Given the description of an element on the screen output the (x, y) to click on. 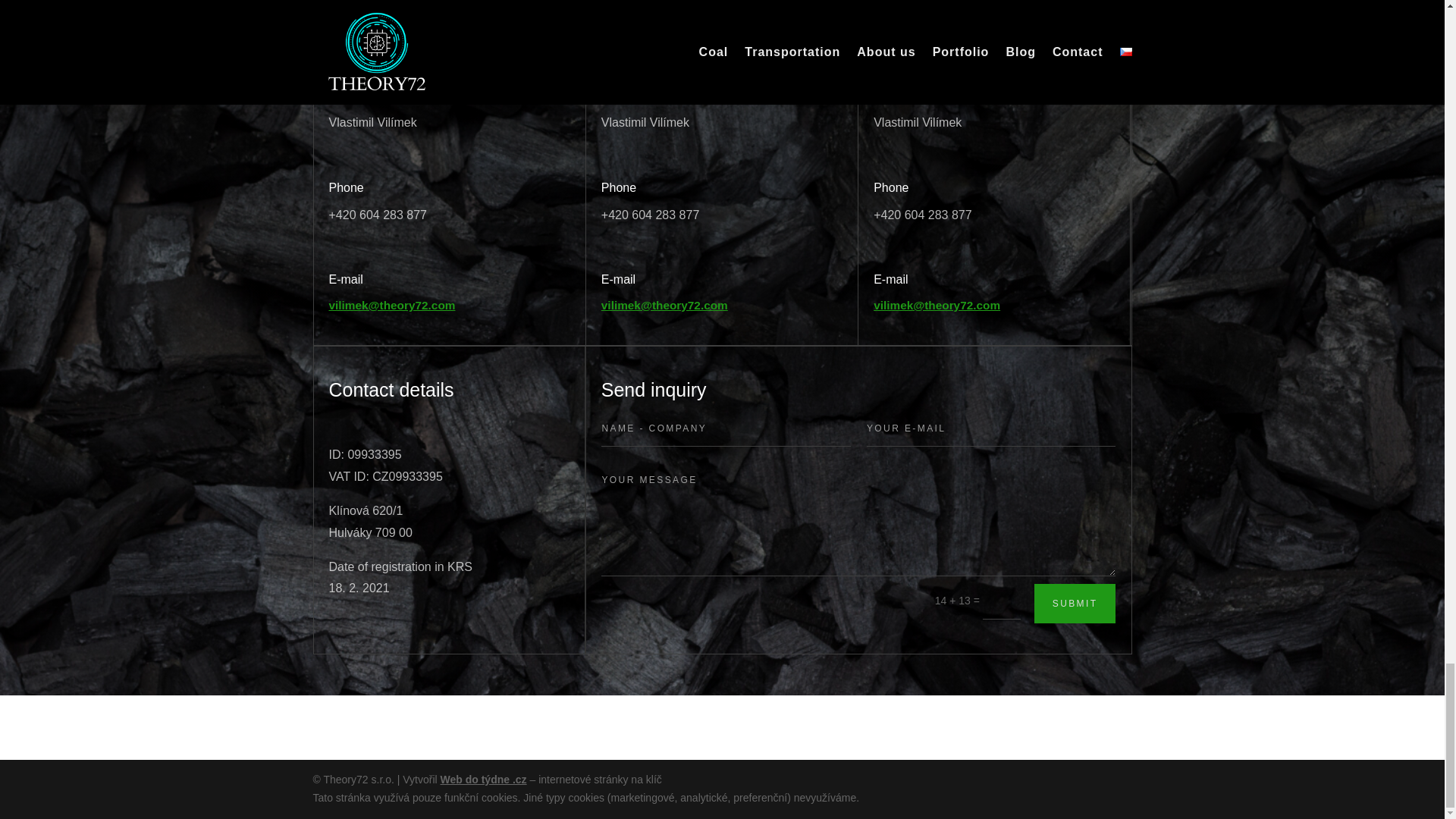
SUBMIT (1074, 603)
